Given the description of an element on the screen output the (x, y) to click on. 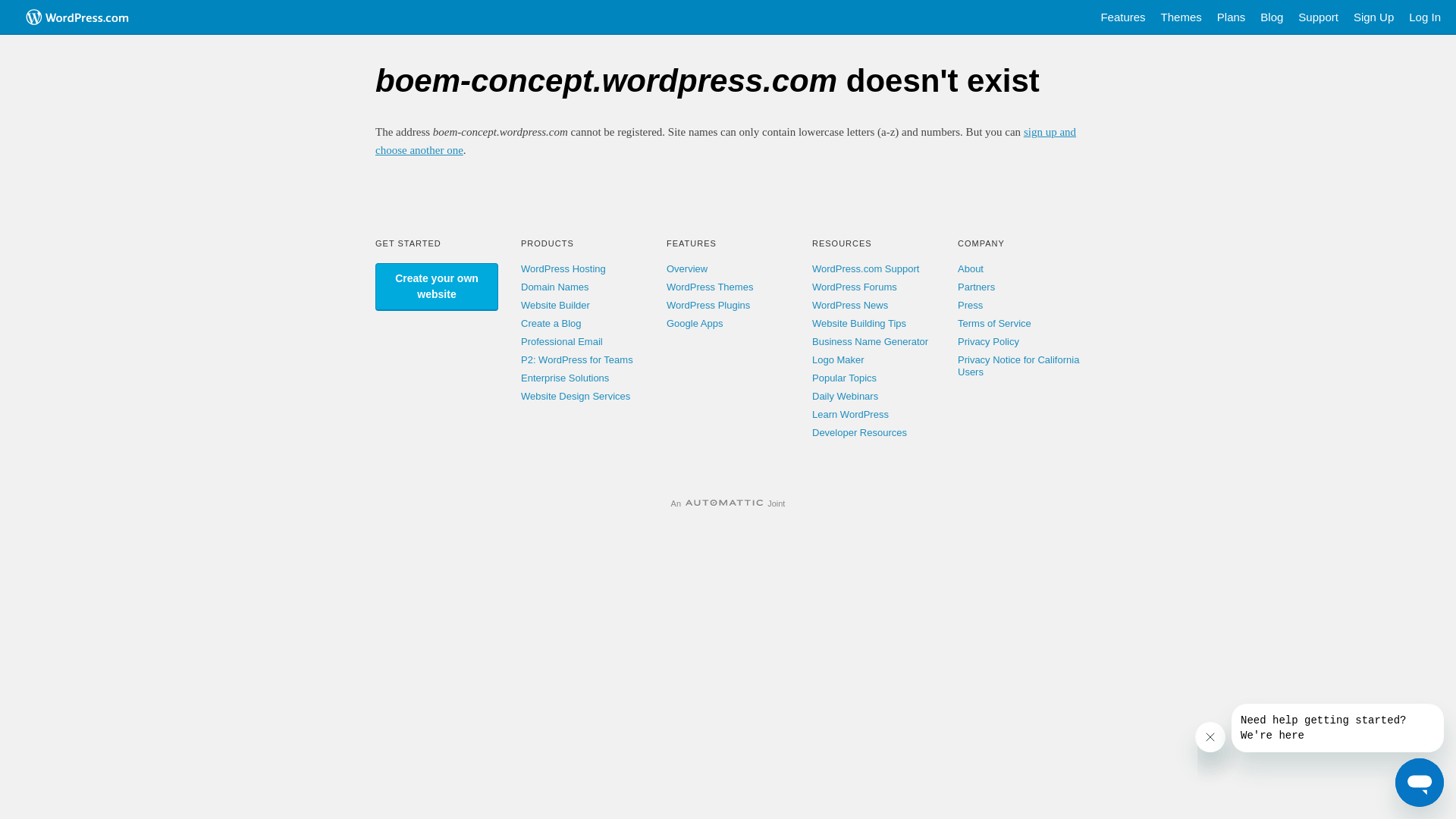
WordPress Plugins Element type: text (707, 304)
Support Element type: text (1318, 17)
Domain Names Element type: text (554, 286)
Plans Element type: text (1231, 17)
WordPress Themes Element type: text (709, 286)
Press Element type: text (969, 304)
Log In Element type: text (1424, 17)
Developer Resources Element type: text (859, 432)
Enterprise Solutions Element type: text (564, 377)
Features Element type: text (1122, 17)
Create your own website Element type: text (436, 286)
Website Design Services Element type: text (575, 395)
Sign Up Element type: text (1373, 17)
Message from company Element type: hover (1337, 727)
Privacy Notice for California Users Element type: text (1018, 365)
Learn WordPress Element type: text (850, 414)
WordPress News Element type: text (850, 304)
WordPress Forums Element type: text (854, 286)
About Element type: text (970, 268)
Website Building Tips Element type: text (859, 323)
Website Builder Element type: text (554, 304)
Themes Element type: text (1181, 17)
WordPress Hosting Element type: text (562, 268)
WordPress.com Support Element type: text (865, 268)
Overview Element type: text (686, 268)
Button to launch messaging window Element type: hover (1419, 782)
Professional Email Element type: text (561, 341)
P2: WordPress for Teams Element type: text (576, 359)
Business Name Generator Element type: text (870, 341)
Automattic Element type: text (723, 503)
Partners Element type: text (975, 286)
Blog Element type: text (1271, 17)
Privacy Policy Element type: text (988, 341)
Daily Webinars Element type: text (845, 395)
Create a Blog Element type: text (550, 323)
Close message Element type: hover (1210, 736)
Popular Topics Element type: text (844, 377)
Logo Maker Element type: text (838, 359)
Google Apps Element type: text (694, 323)
sign up and choose another one Element type: text (725, 140)
Terms of Service Element type: text (994, 323)
